Given the description of an element on the screen output the (x, y) to click on. 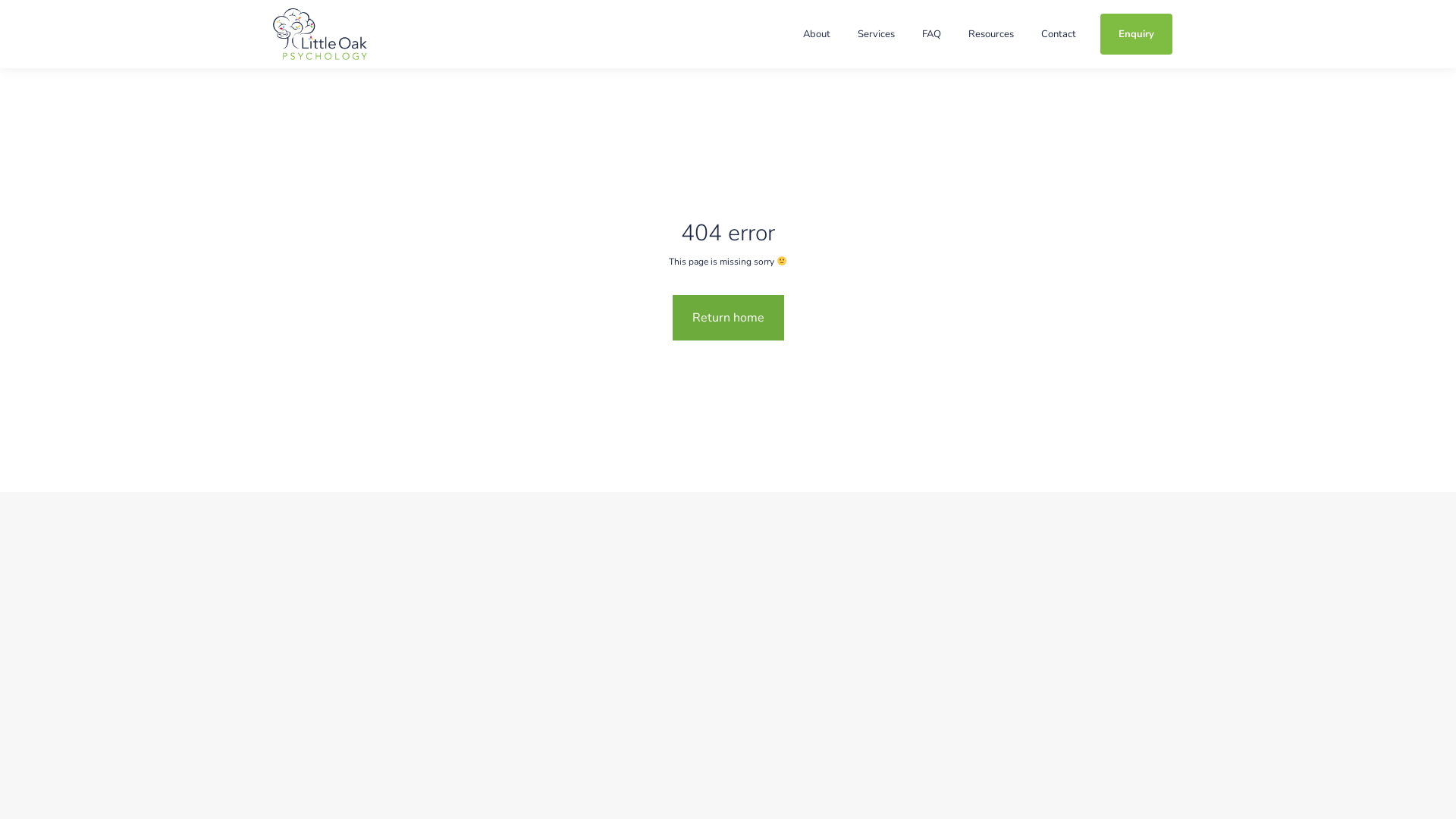
Contact Element type: text (1058, 33)
About Element type: text (816, 33)
Return home Element type: text (727, 317)
Resources Element type: text (990, 33)
Services Element type: text (875, 33)
FAQ Element type: text (931, 33)
Enquiry Element type: text (1136, 33)
